Given the description of an element on the screen output the (x, y) to click on. 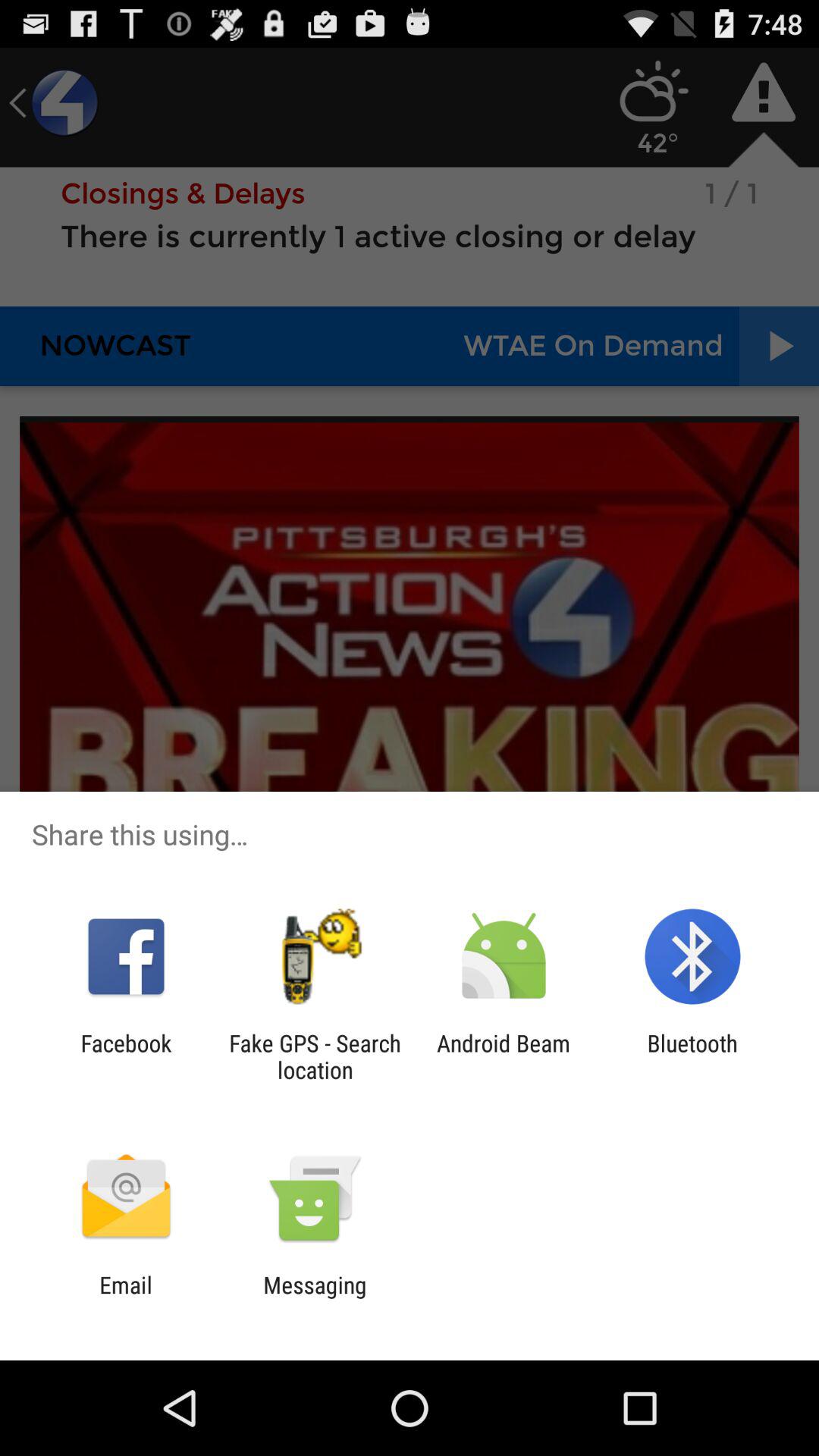
turn off the item next to facebook app (314, 1056)
